Given the description of an element on the screen output the (x, y) to click on. 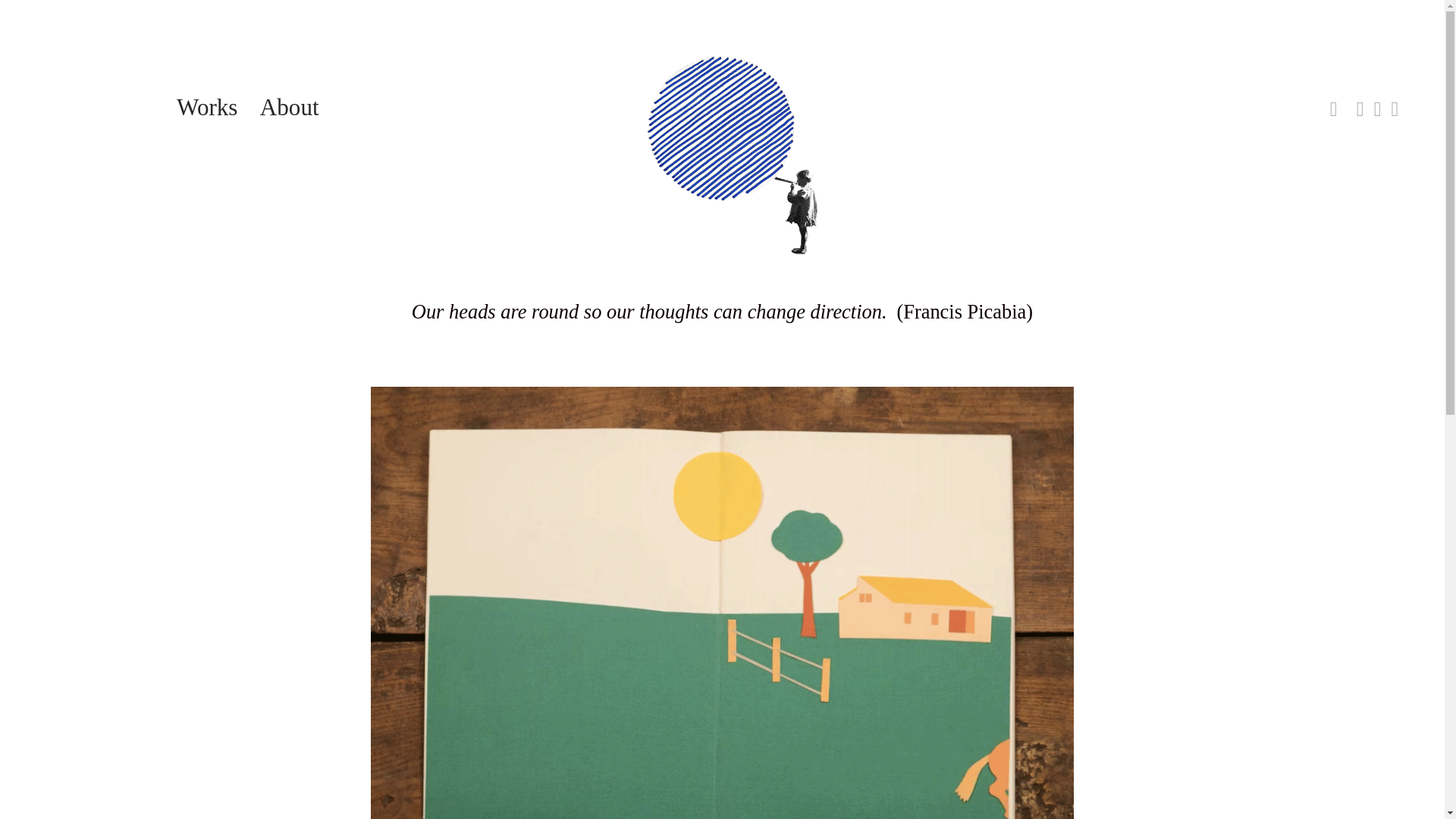
About (289, 108)
Works (206, 108)
